Given the description of an element on the screen output the (x, y) to click on. 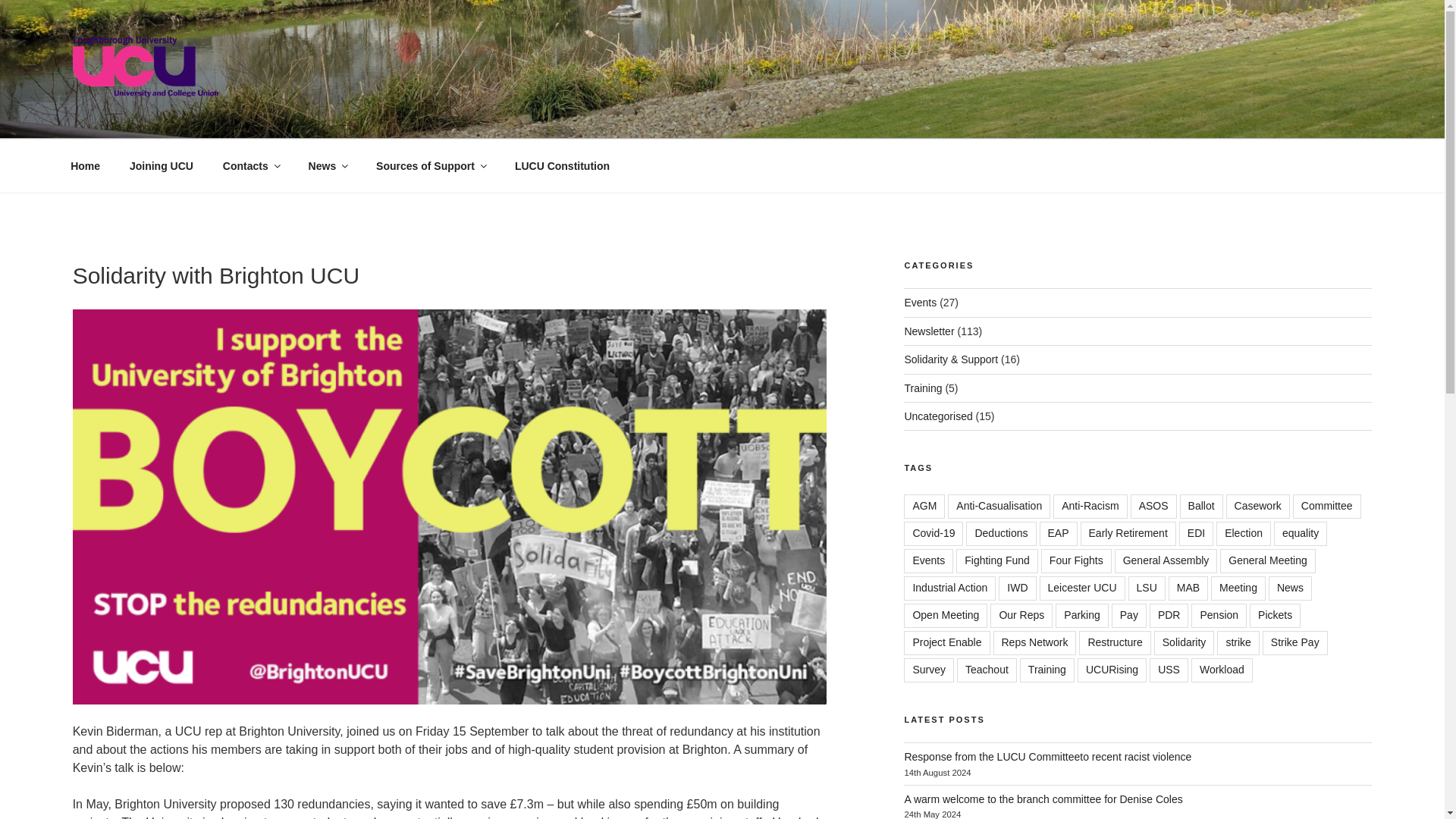
Contacts (250, 165)
LOUGHBOROUGH UCU (243, 119)
LUCU Constitution (561, 165)
Sources of Support (430, 165)
Joining UCU (161, 165)
Home (85, 165)
News (327, 165)
